Given the description of an element on the screen output the (x, y) to click on. 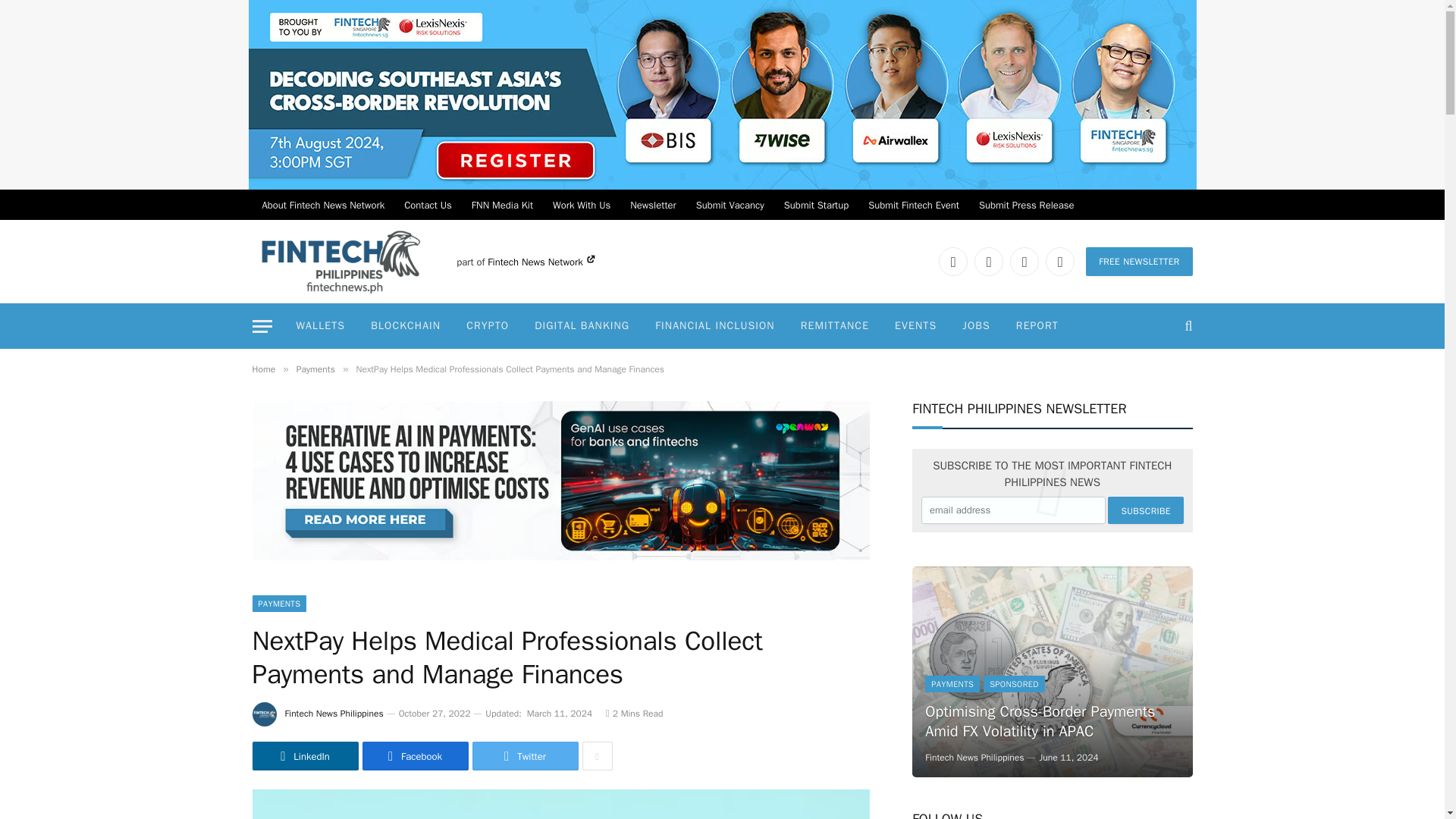
Submit Fintech Event (914, 204)
FREE NEWSLETTER (1139, 261)
About Fintech News Network (322, 204)
Posts by Fintech News Philippines (334, 713)
RSS (1059, 261)
Submit Startup (816, 204)
Facebook (988, 261)
FNN Media Kit (502, 204)
Newsletter (652, 204)
Fintech News Philippines (340, 261)
LinkedIn (953, 261)
FINANCIAL INCLUSION (714, 325)
Submit Press Release (1026, 204)
Fintech News Network (540, 261)
